Given the description of an element on the screen output the (x, y) to click on. 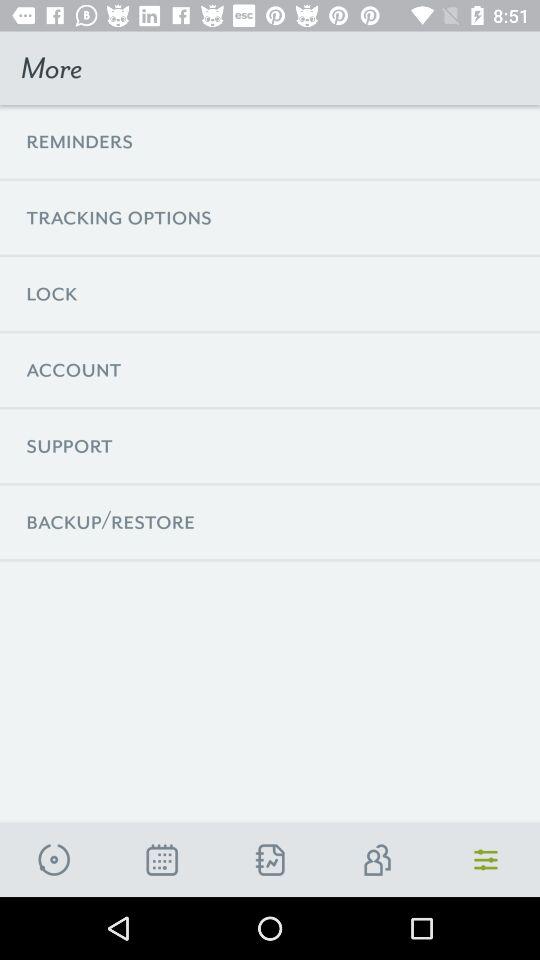
open calander (162, 860)
